Given the description of an element on the screen output the (x, y) to click on. 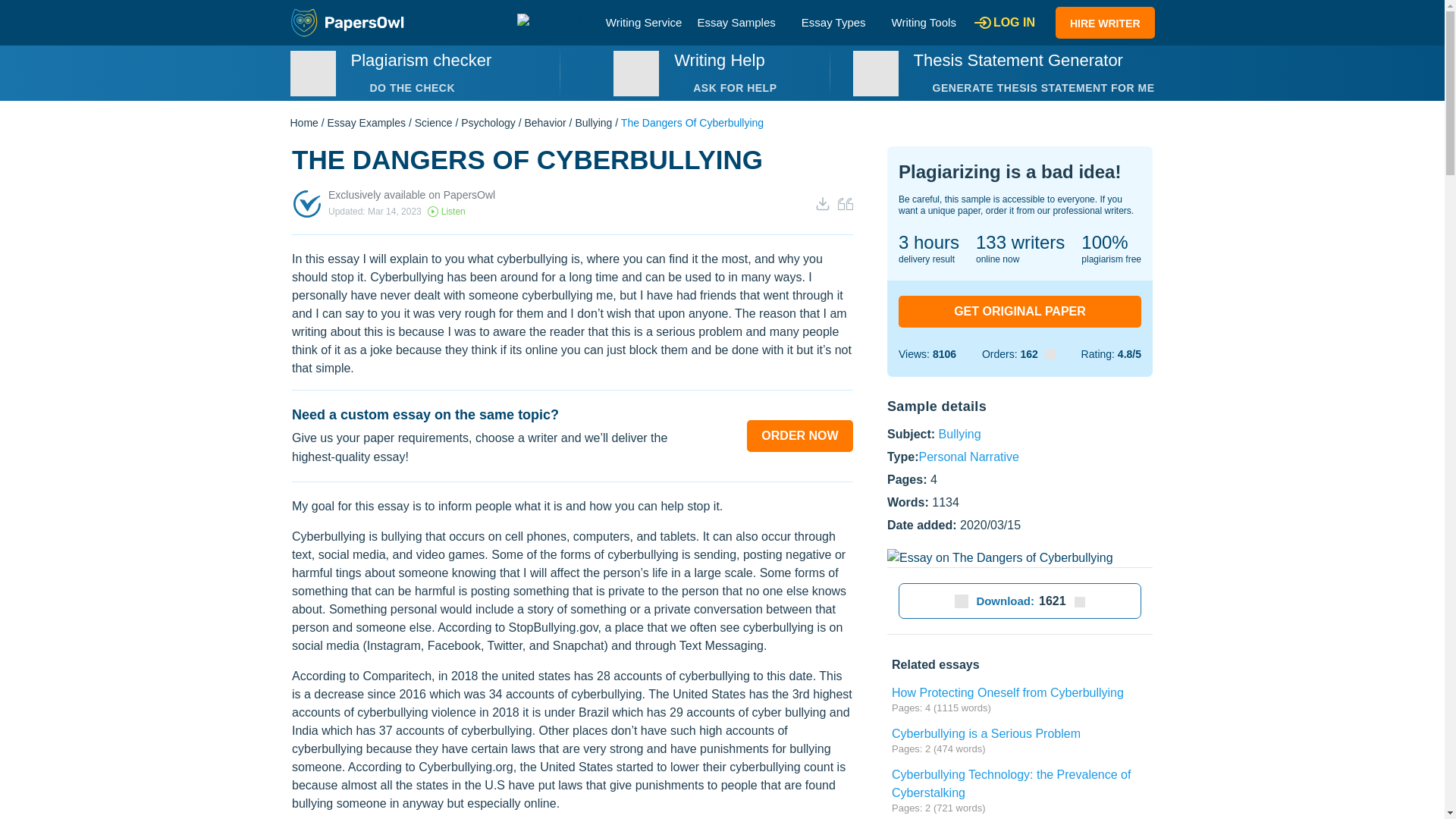
Writing Service (643, 21)
image (311, 72)
image (635, 72)
image (875, 72)
The Dangers of Cyberbullying (999, 557)
